Given the description of an element on the screen output the (x, y) to click on. 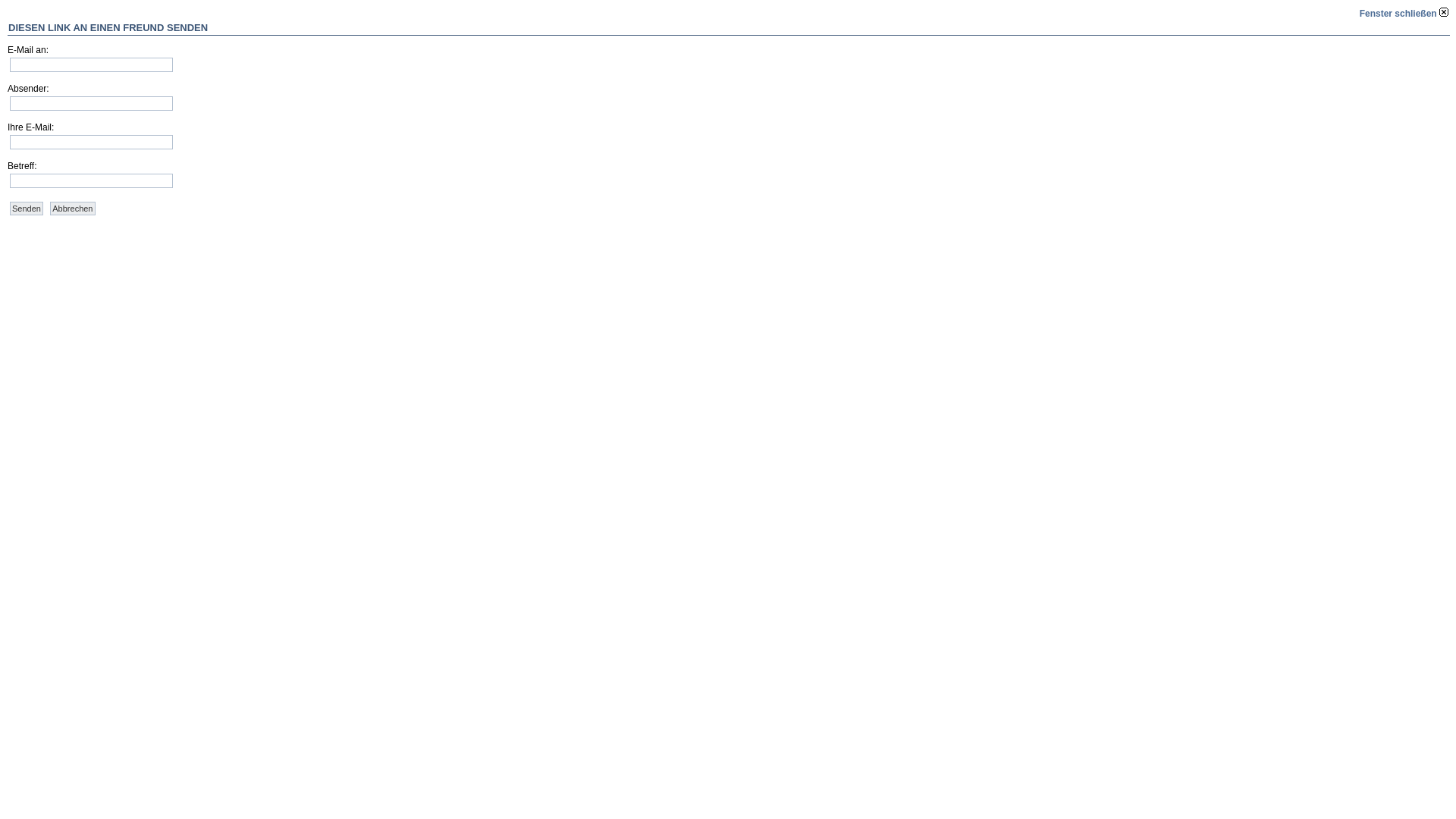
Abbrechen Element type: text (72, 208)
Senden Element type: text (26, 208)
